Given the description of an element on the screen output the (x, y) to click on. 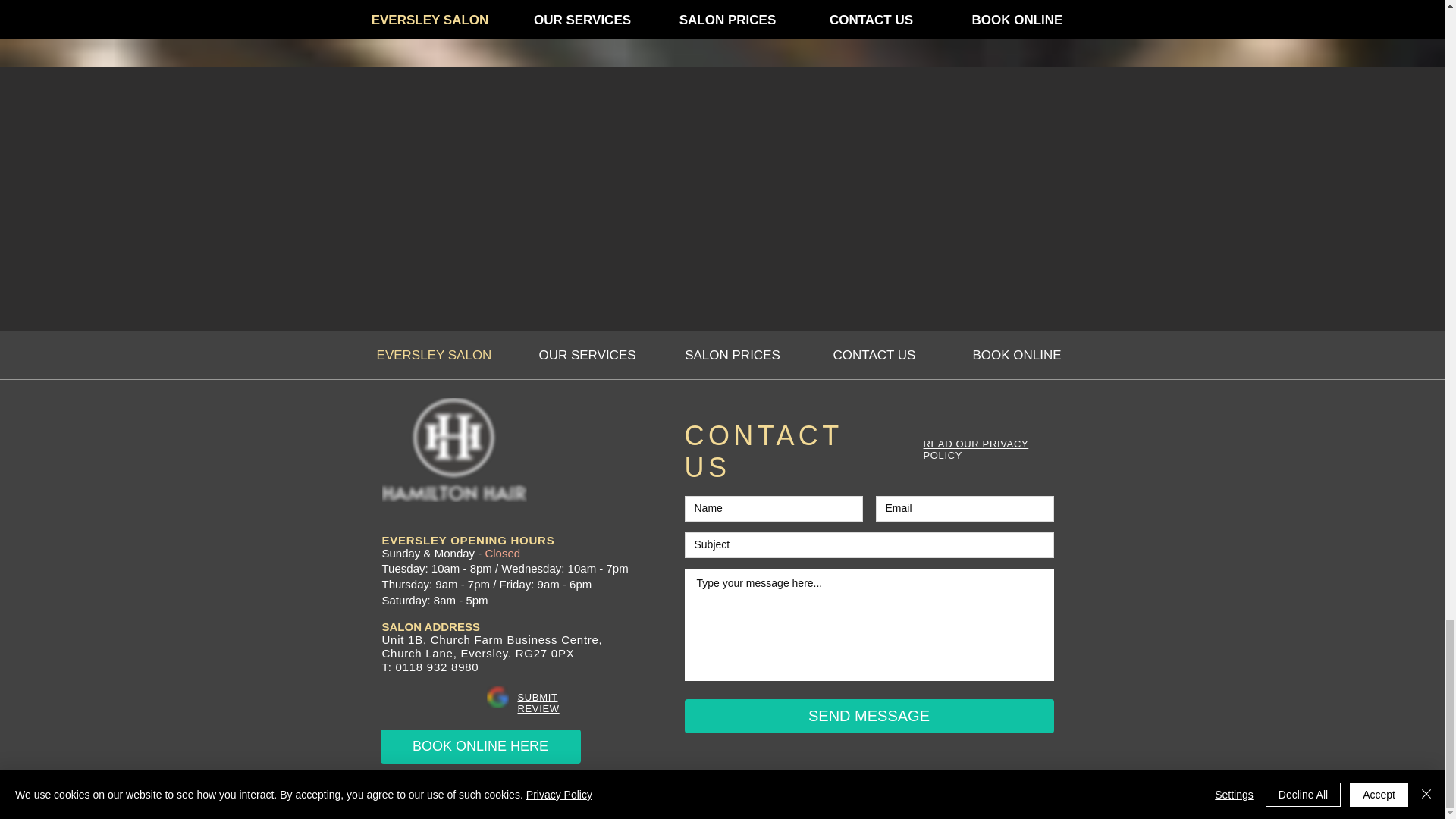
logo.png (454, 450)
BOOK ONLINE (1016, 355)
OUR SERVICES (586, 355)
SALON PRICES (732, 355)
READ OUR PRIVACY POLICY (976, 449)
EVERSLEY SALON (433, 355)
google-logo-9827.png (497, 697)
BOOK ONLINE HERE (480, 746)
SUBMIT REVIEW (537, 702)
SEND MESSAGE (868, 716)
CONTACT US (874, 355)
